Given the description of an element on the screen output the (x, y) to click on. 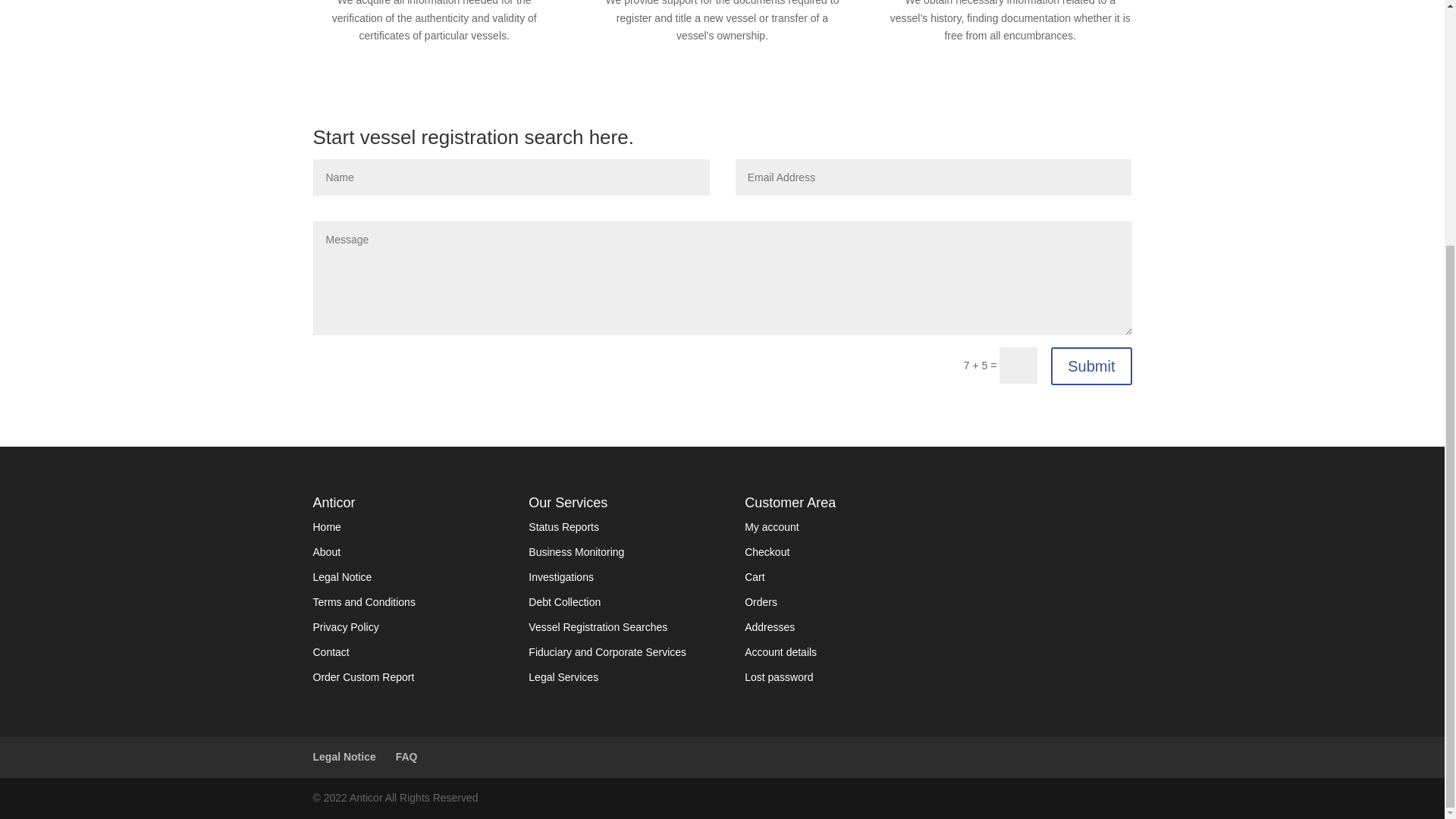
Debt Collection (563, 602)
Fiduciary and Corporate Services (606, 652)
Business Monitoring (576, 551)
Lost password (778, 676)
Checkout (766, 551)
Cart (754, 576)
Submit (1091, 365)
Status Reports (563, 526)
Legal Notice (344, 756)
Privacy Policy (345, 626)
